Given the description of an element on the screen output the (x, y) to click on. 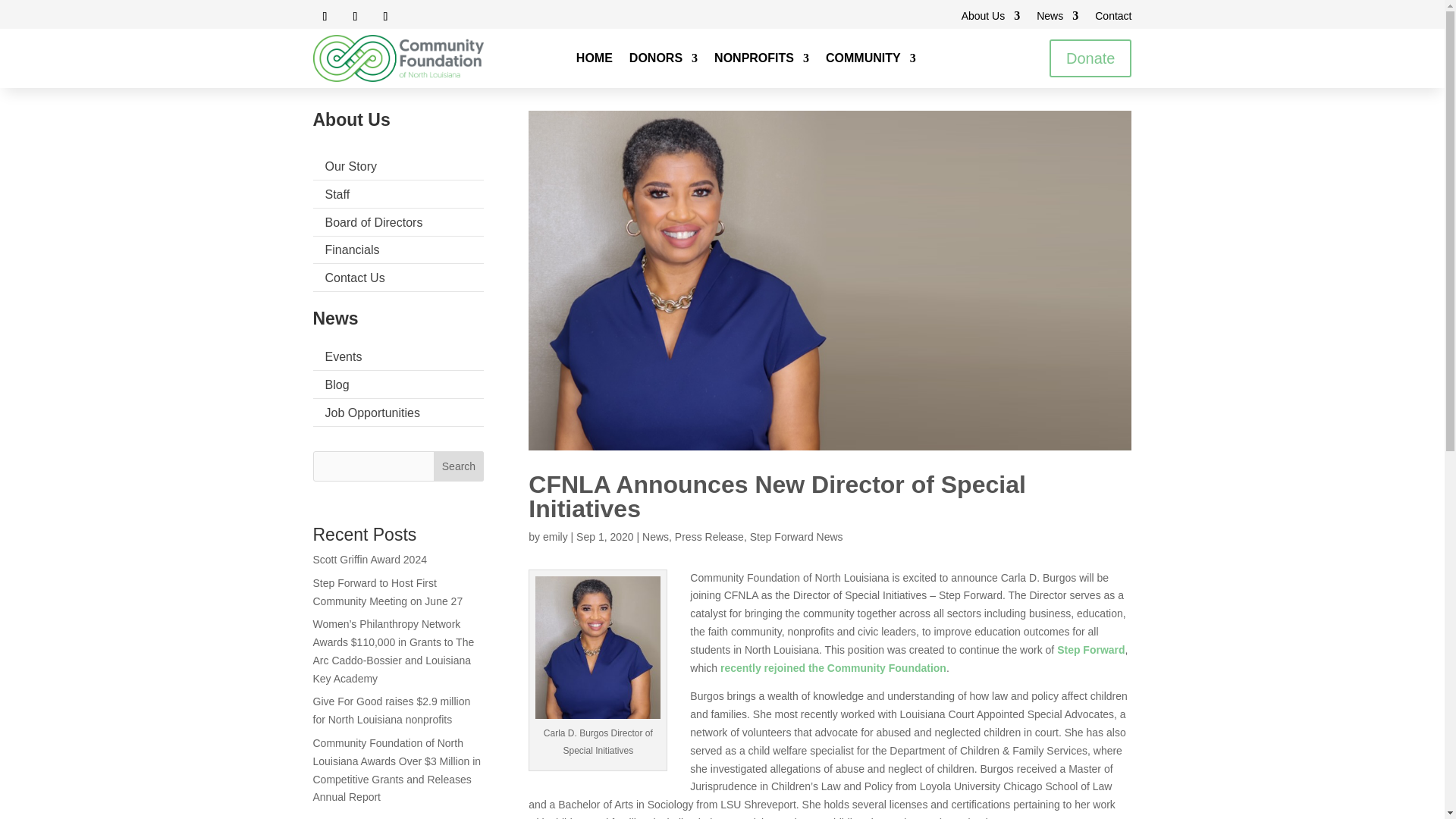
DONORS (662, 61)
Follow on Instagram (354, 16)
News (1057, 18)
NONPROFITS (761, 61)
Community Foundation Logo (398, 58)
Follow on LinkedIn (384, 16)
Follow on Facebook (324, 16)
About Us (990, 18)
Posts by emily (555, 536)
HOME (594, 61)
Contact (1112, 18)
